Given the description of an element on the screen output the (x, y) to click on. 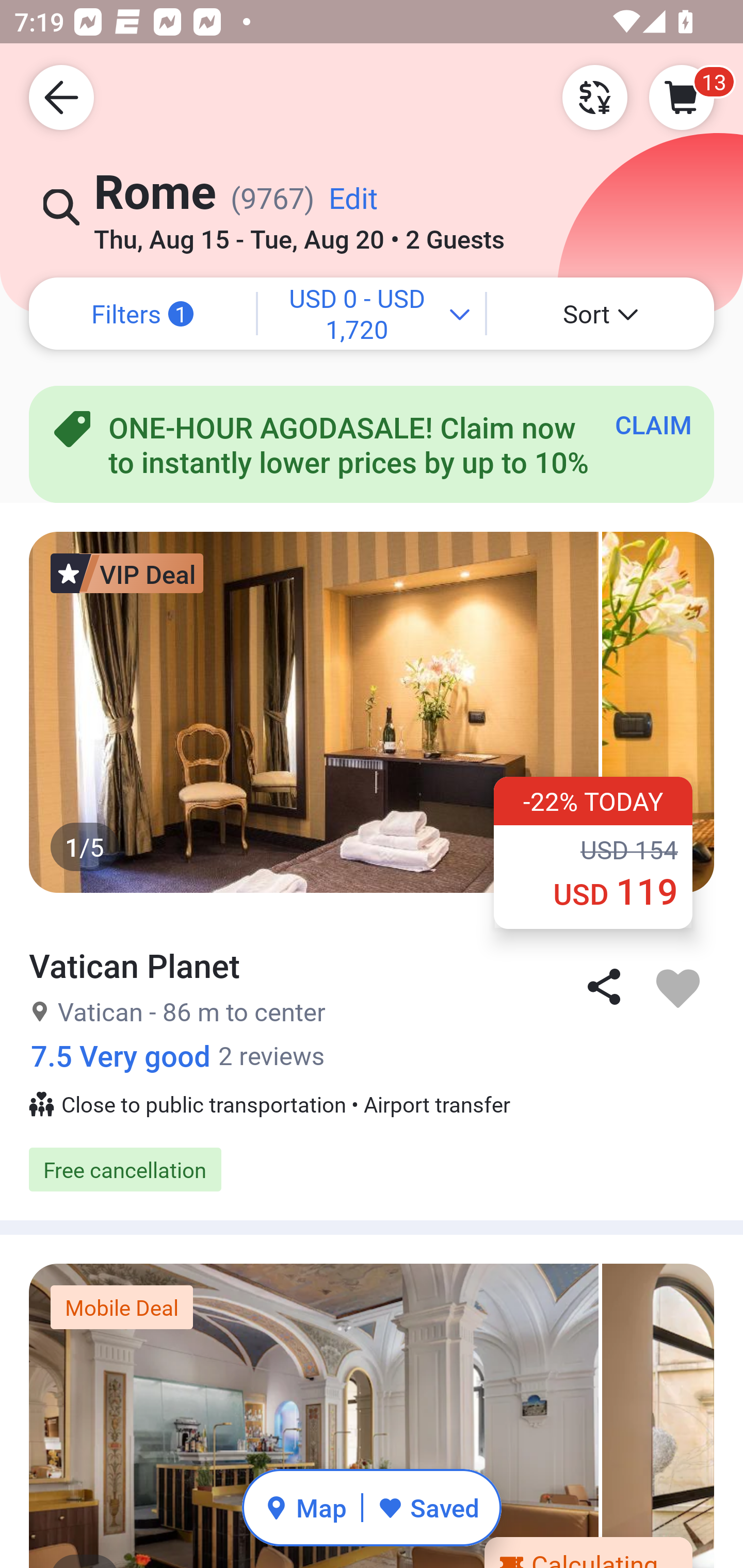
Filters 1 (141, 313)
⁦USD 0⁩ - ⁦USD 1,720⁩ (371, 313)
Sort (600, 313)
CLAIM (653, 424)
VIP Deal (126, 572)
1/5 (371, 711)
-22% TODAY ‪USD 154 ‪USD 119 (593, 852)
Free cancellation (371, 1169)
1/5 (371, 1415)
Mobile Deal (121, 1307)
Map (305, 1507)
Saved (428, 1507)
